Given the description of an element on the screen output the (x, y) to click on. 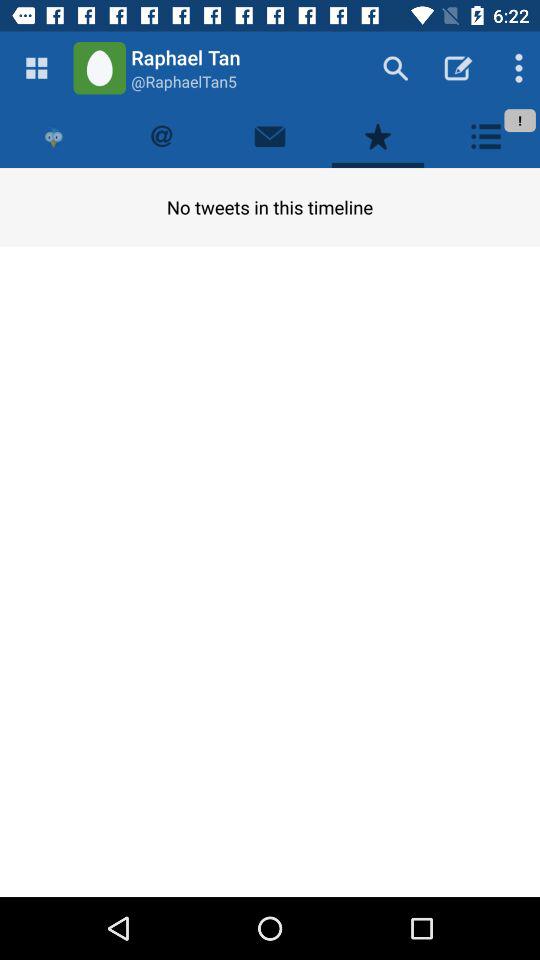
view tweets (162, 136)
